Given the description of an element on the screen output the (x, y) to click on. 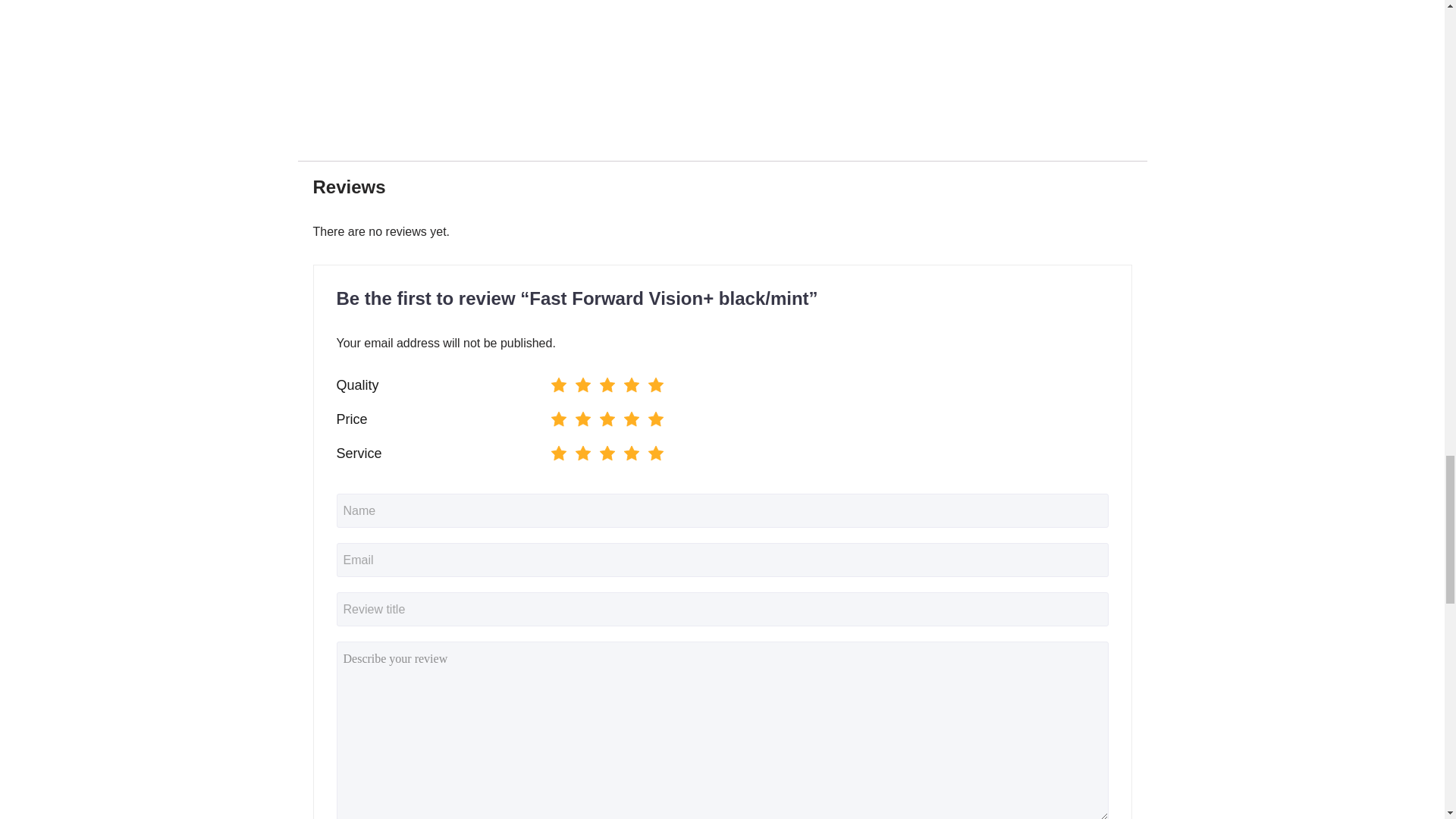
5 (551, 415)
Very Poor (558, 422)
3 (551, 381)
2 (551, 415)
3 (551, 450)
4 (551, 450)
Poor (582, 422)
Very Poor (558, 387)
1 (551, 450)
Outstanding (655, 387)
